Given the description of an element on the screen output the (x, y) to click on. 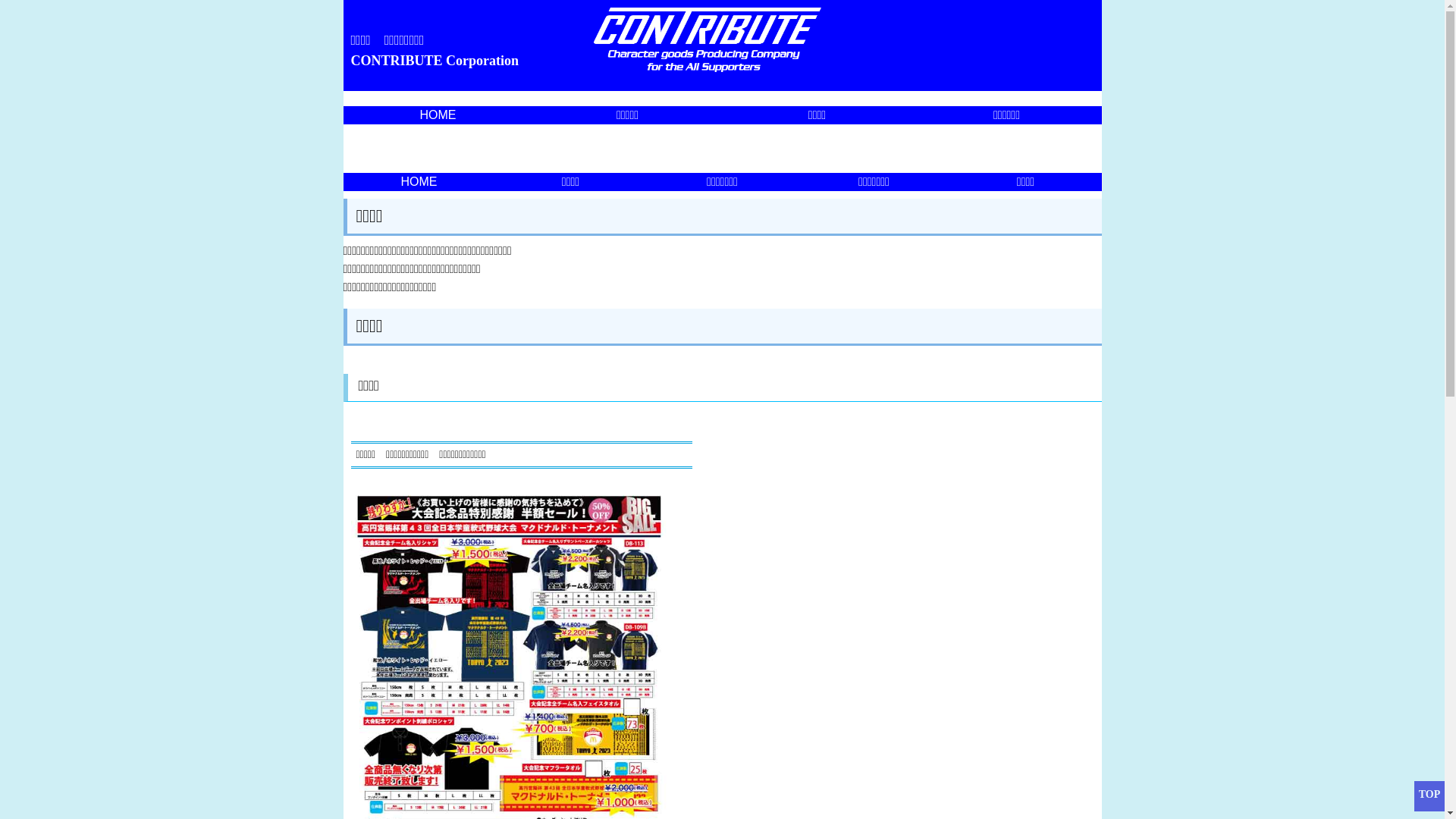
HOME Element type: text (418, 181)
HOME Element type: text (437, 115)
